Given the description of an element on the screen output the (x, y) to click on. 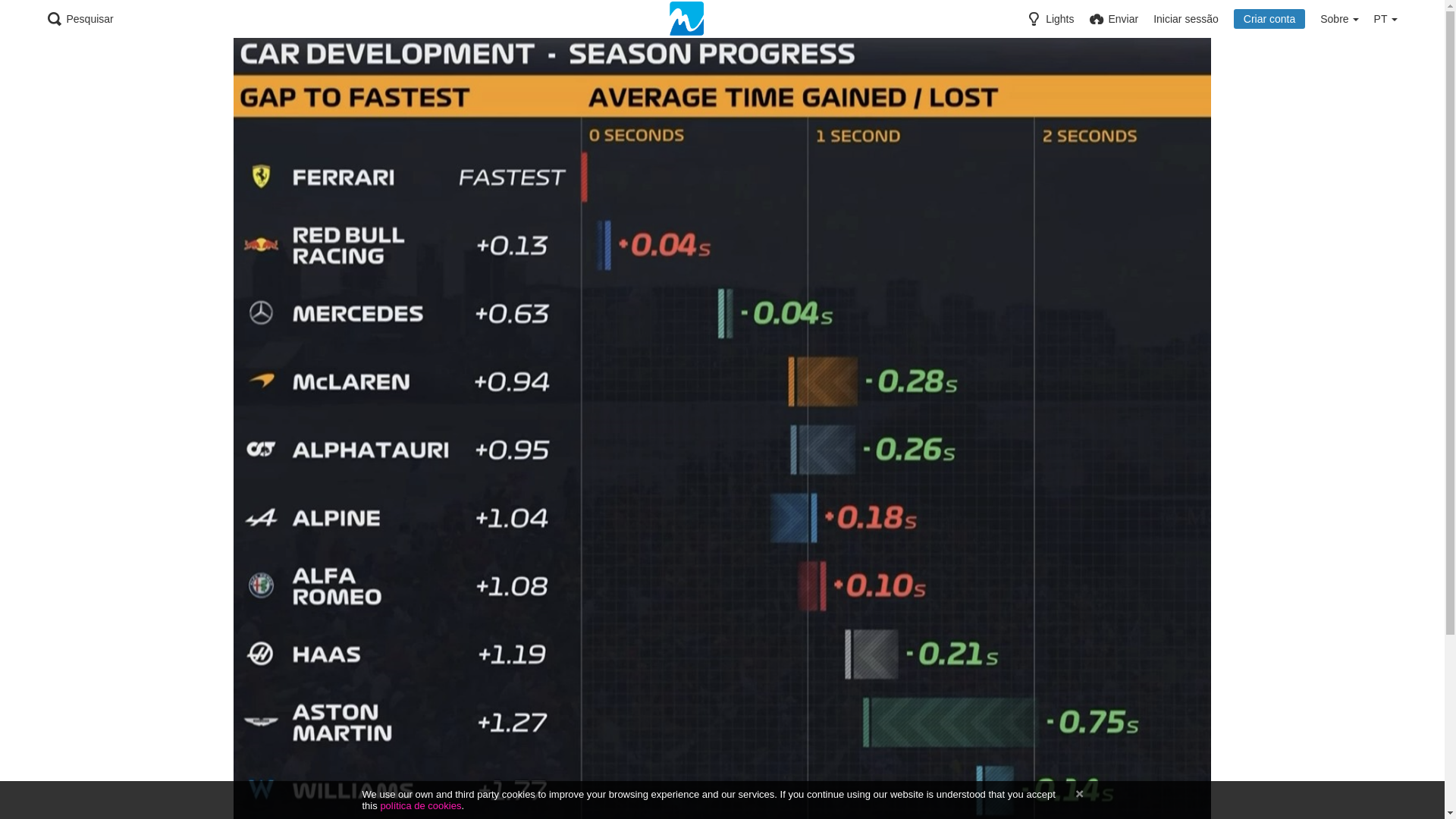
Criar conta Element type: text (1269, 18)
Percebi Element type: hover (1078, 794)
Enviar Element type: text (1113, 18)
